Given the description of an element on the screen output the (x, y) to click on. 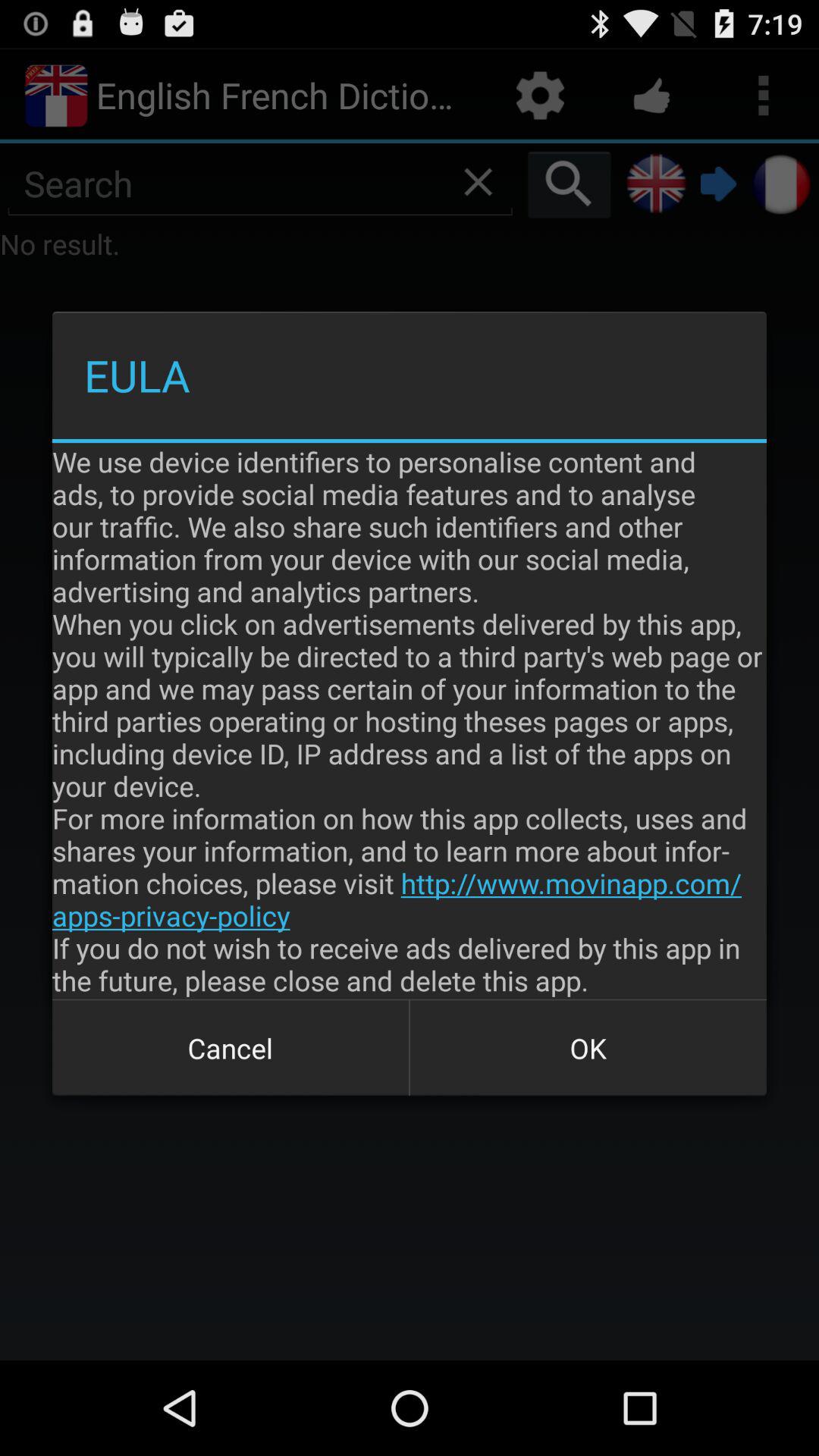
tap cancel button (230, 1047)
